Given the description of an element on the screen output the (x, y) to click on. 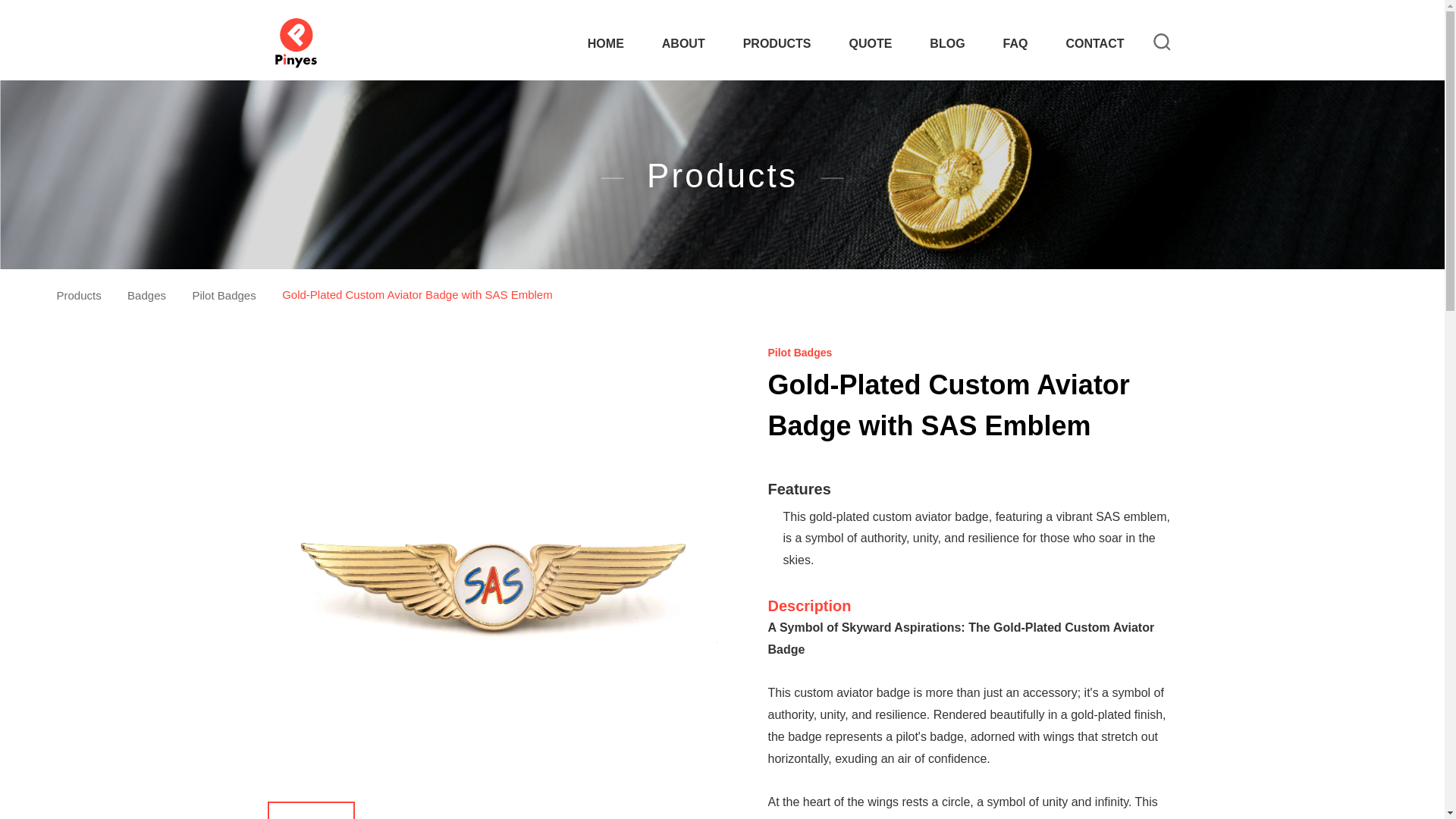
Pilot Badges (224, 295)
QUOTE (870, 44)
PRODUCTS (776, 44)
QUOTE (870, 44)
BLOG (947, 44)
PRODUCTS (776, 44)
Search (1161, 44)
ABOUT (683, 44)
BLOG (947, 44)
HOME (606, 44)
